Given the description of an element on the screen output the (x, y) to click on. 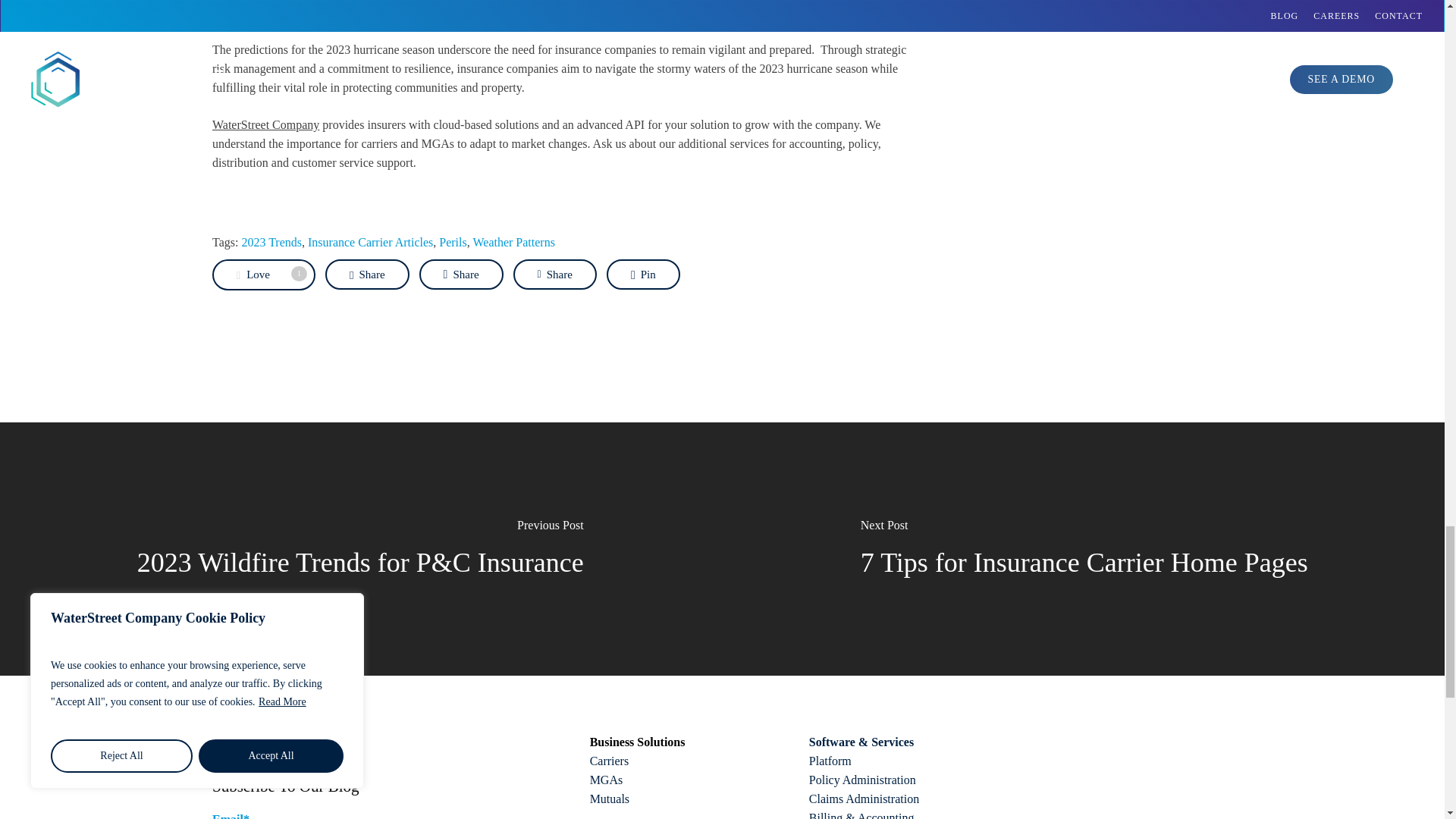
Share this (461, 274)
Pin this (643, 274)
Love this (263, 274)
Share this (554, 274)
Share this (366, 274)
